Given the description of an element on the screen output the (x, y) to click on. 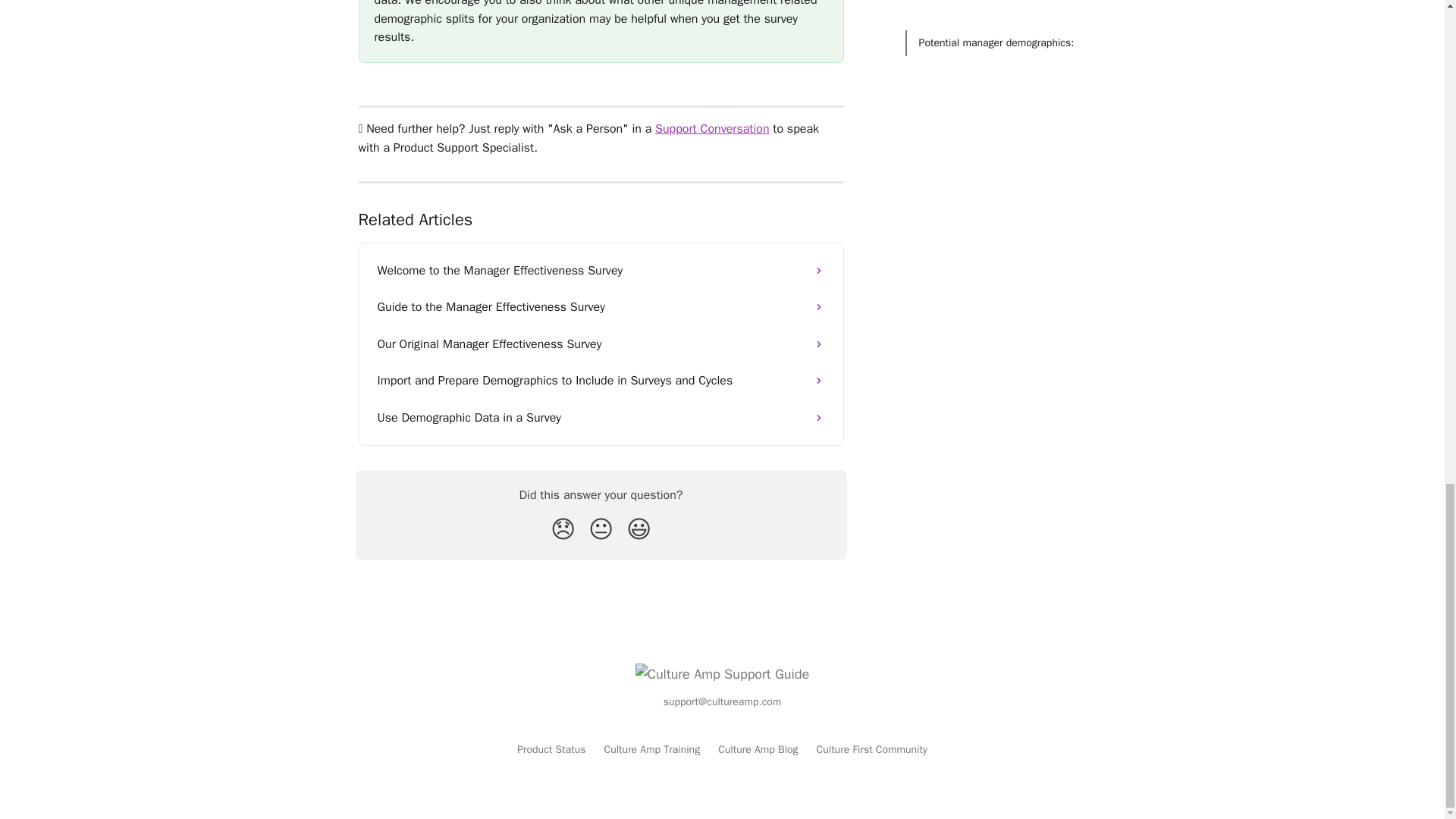
Use Demographic Data in a Survey (601, 417)
Guide to the Manager Effectiveness Survey (601, 307)
Support Conversation (711, 128)
Culture Amp Training (652, 748)
Welcome to the Manager Effectiveness Survey (601, 270)
Product Status (550, 748)
Our Original Manager Effectiveness Survey (601, 343)
Culture First Community (871, 748)
Culture Amp Blog (757, 748)
